Given the description of an element on the screen output the (x, y) to click on. 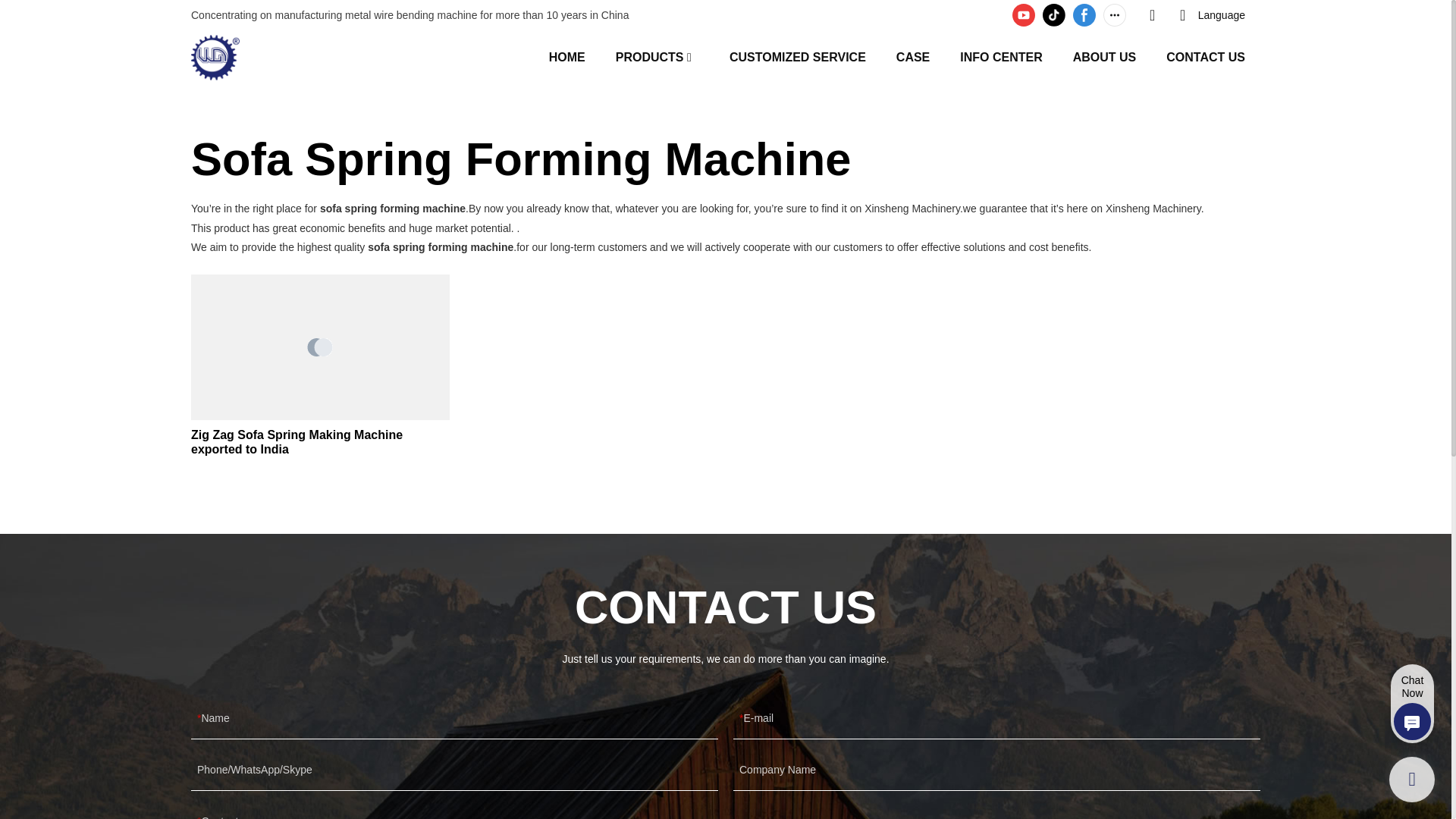
youtube (1024, 15)
Zig Zag Sofa Spring Making Machine exported to India (319, 441)
tiktok (1053, 15)
PRODUCTS (649, 56)
HOME (566, 56)
facebook (1083, 15)
